Given the description of an element on the screen output the (x, y) to click on. 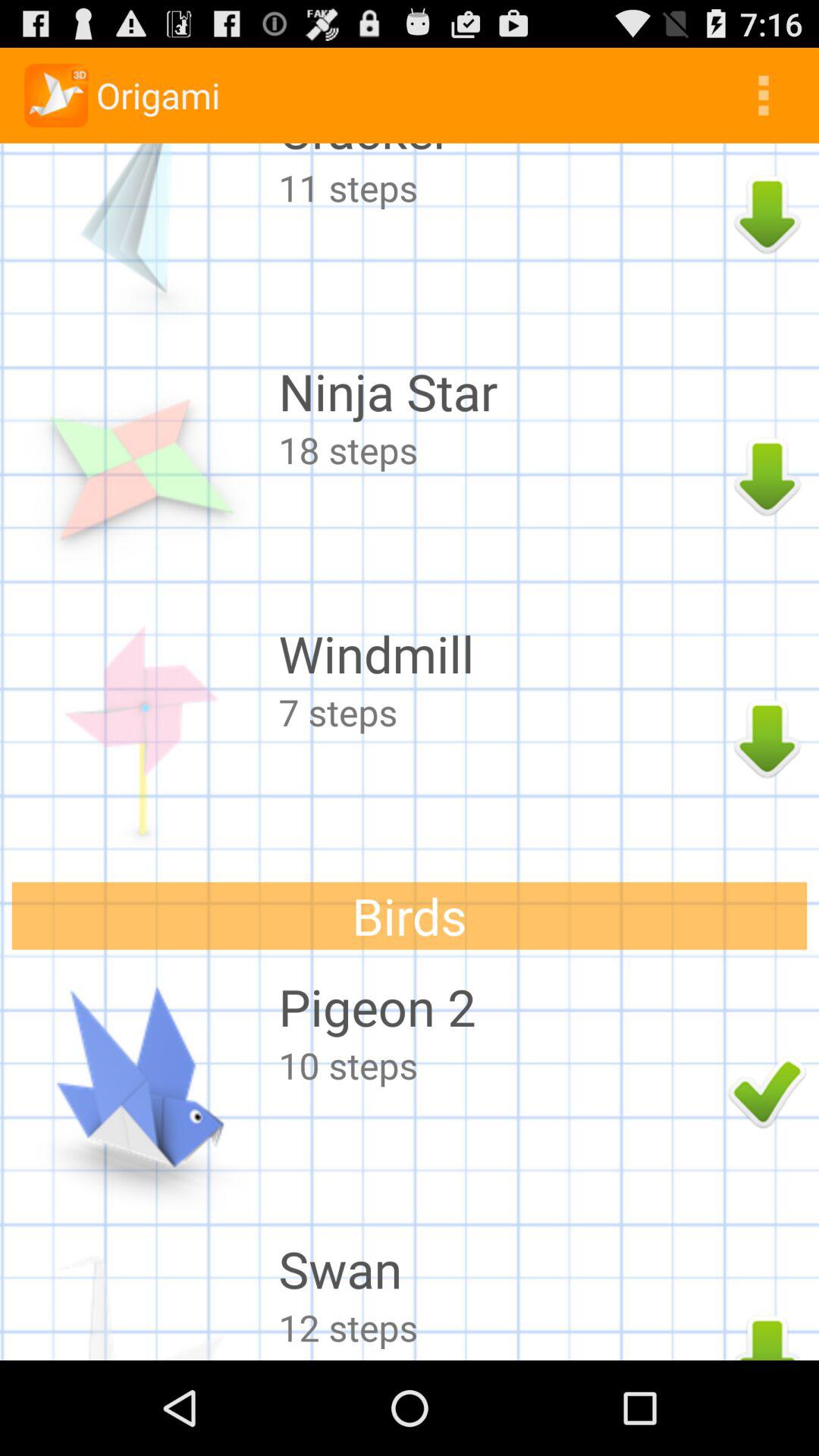
launch 12 steps app (498, 1327)
